Given the description of an element on the screen output the (x, y) to click on. 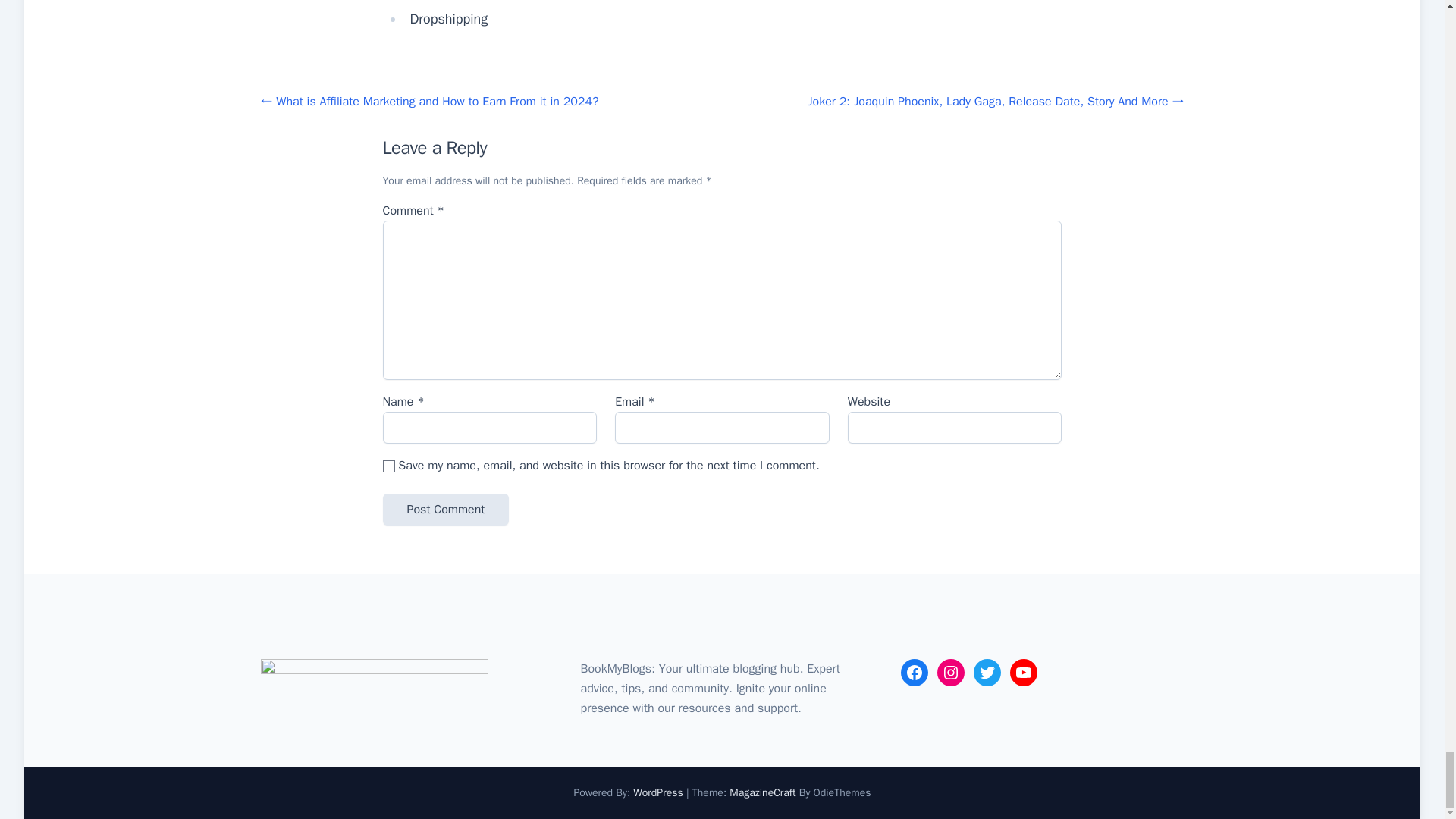
yes (387, 466)
Facebook (914, 672)
Twitter (987, 672)
Instagram (950, 672)
MagazineCraft (761, 792)
Post Comment (444, 509)
Post Comment (444, 509)
YouTube (1023, 672)
WordPress (657, 792)
